Given the description of an element on the screen output the (x, y) to click on. 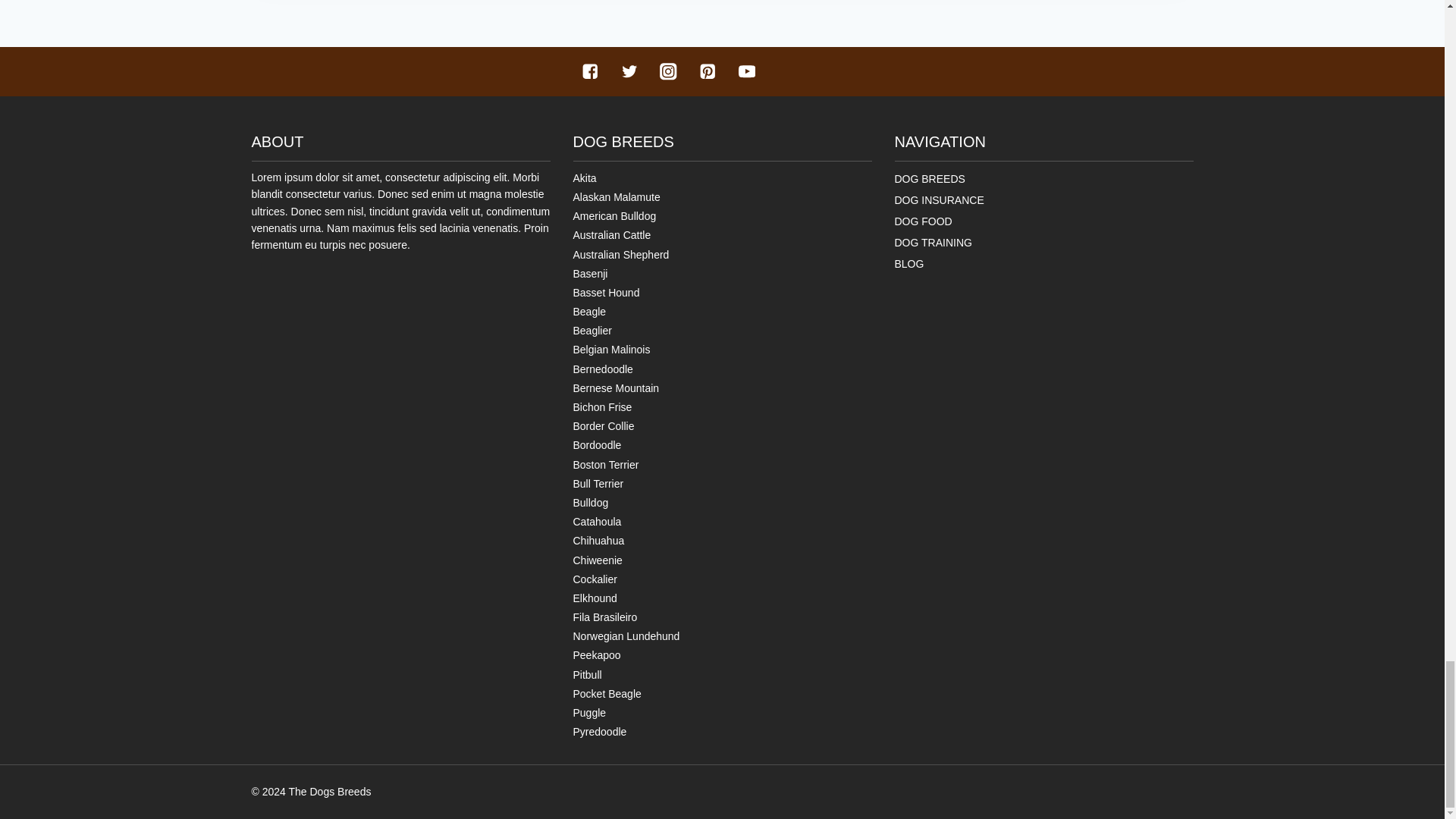
Bichon Frise (602, 407)
Bordoodle (597, 444)
Bulldog (590, 502)
Bernese Mountain (616, 387)
Akita (584, 177)
Belgian Malinois (611, 349)
Basenji (590, 273)
Alaskan Malamute (617, 196)
American Bulldog (614, 215)
Bull Terrier (598, 483)
